Given the description of an element on the screen output the (x, y) to click on. 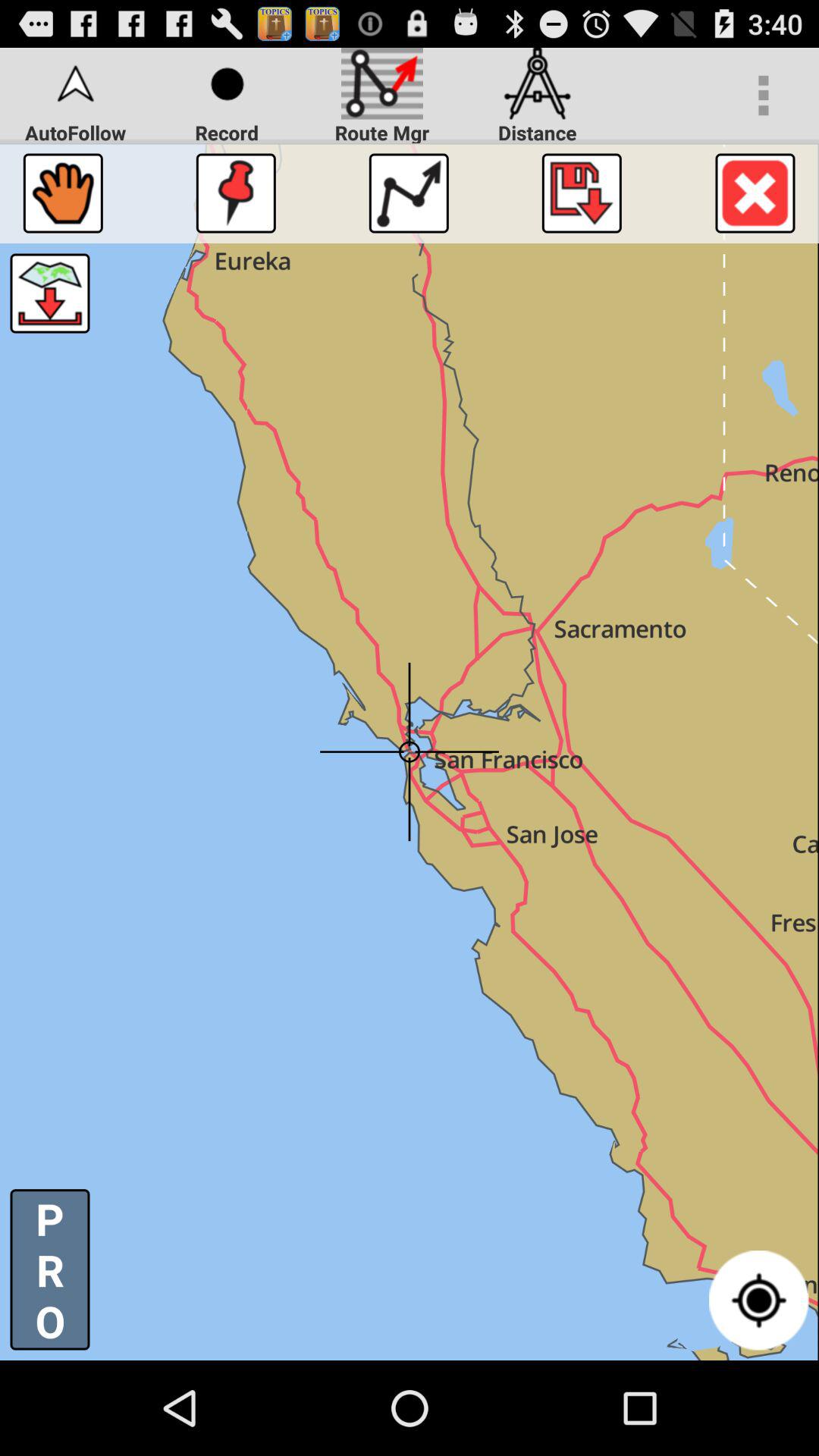
click icon at the bottom right corner (758, 1300)
